Given the description of an element on the screen output the (x, y) to click on. 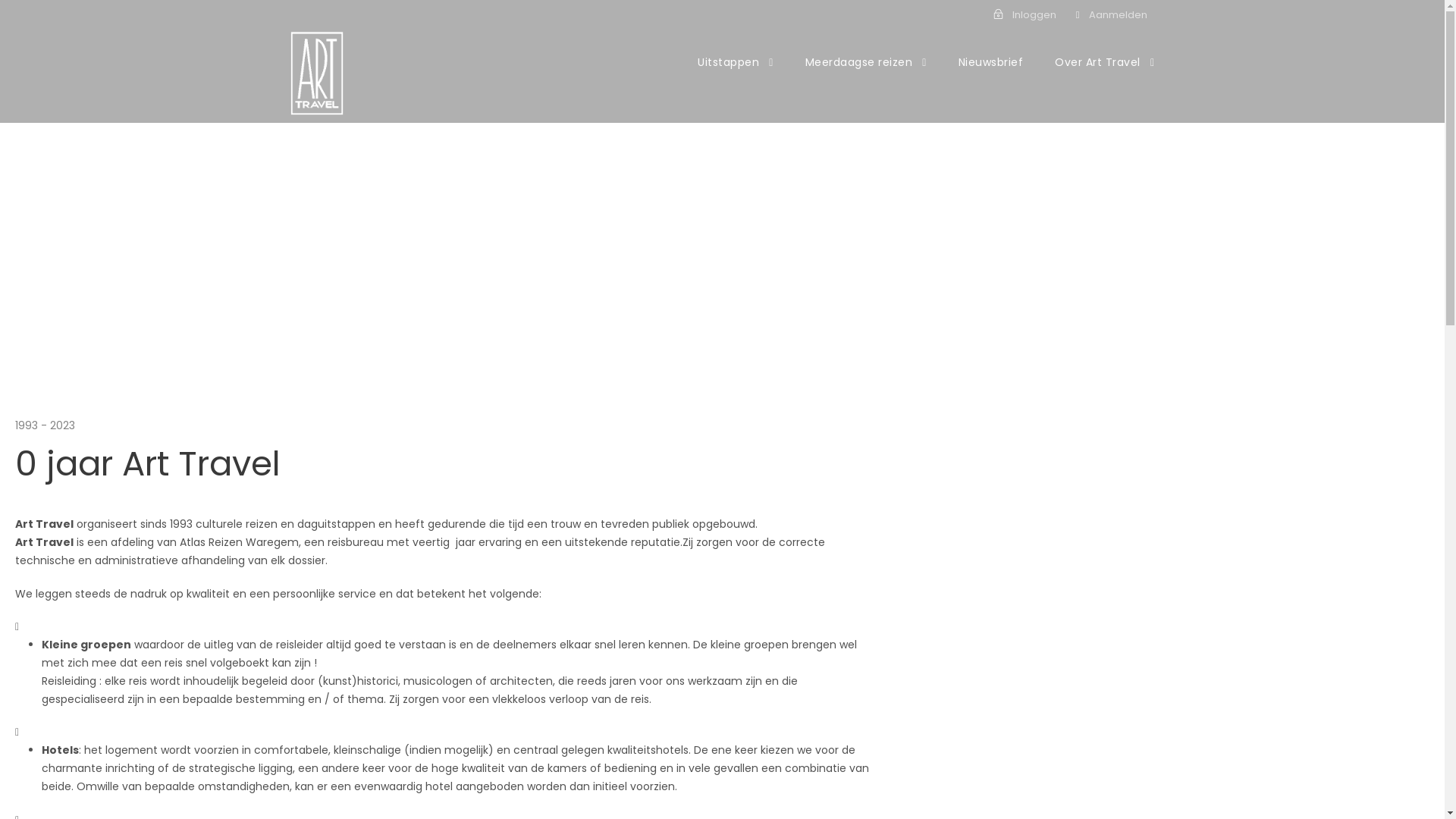
Uitstappen Element type: text (735, 77)
Nieuwsbrief Element type: text (990, 77)
Over Art Travel Element type: text (1104, 77)
Meerdaagse reizen Element type: text (865, 77)
